Given the description of an element on the screen output the (x, y) to click on. 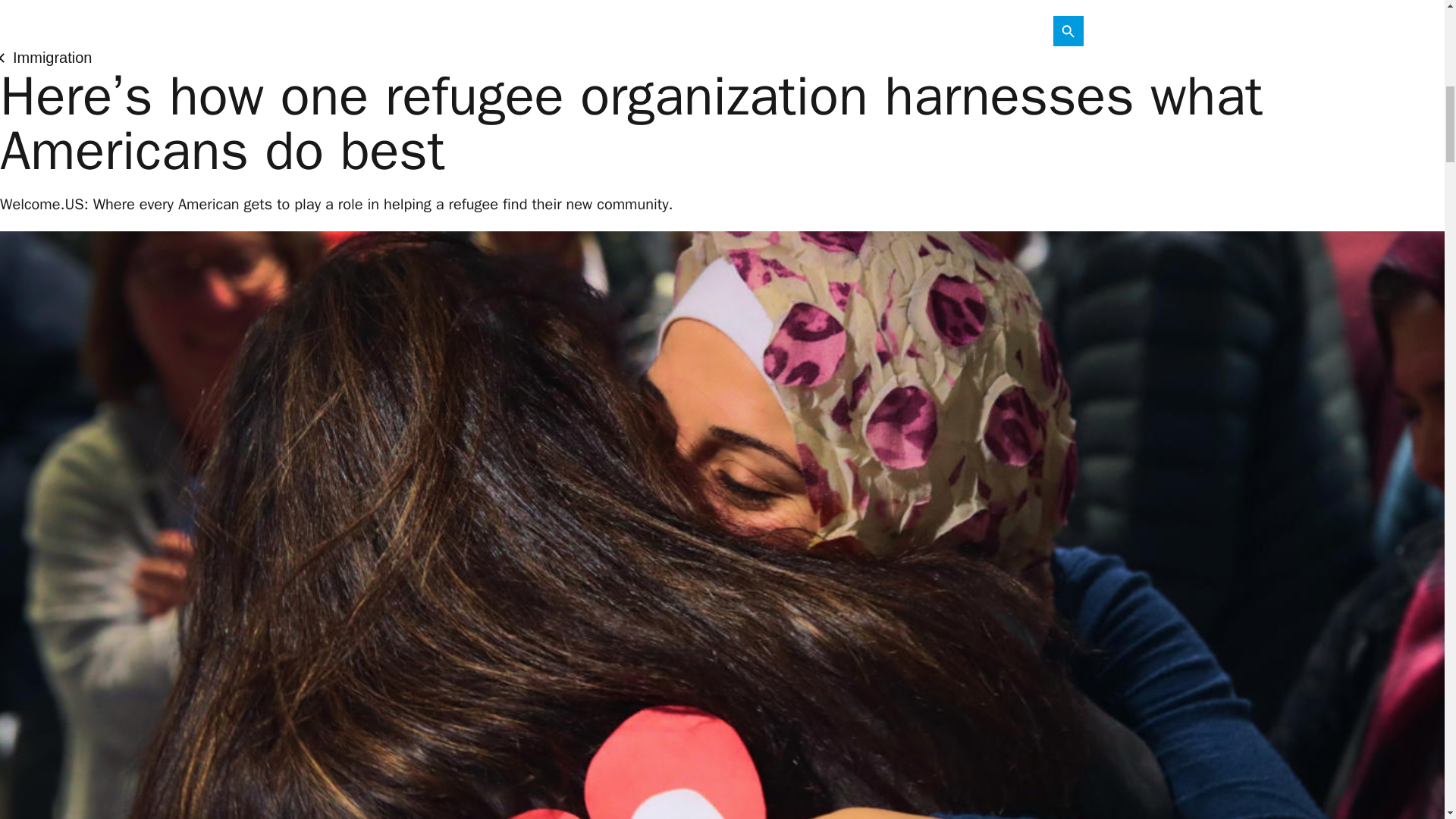
Immigration (45, 56)
